Given the description of an element on the screen output the (x, y) to click on. 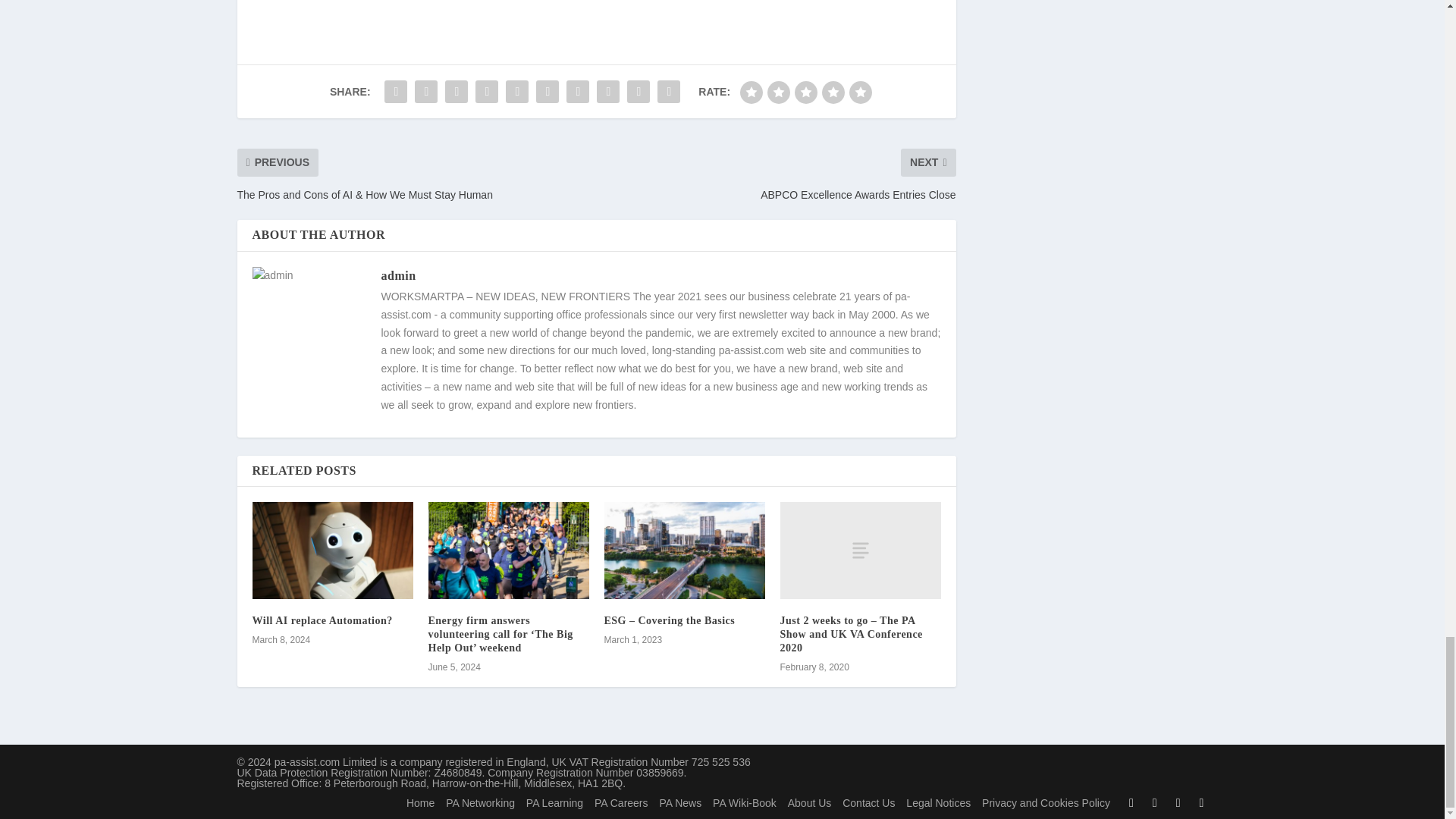
bad (750, 92)
Will AI replace Automation? (321, 620)
admin (397, 275)
